Given the description of an element on the screen output the (x, y) to click on. 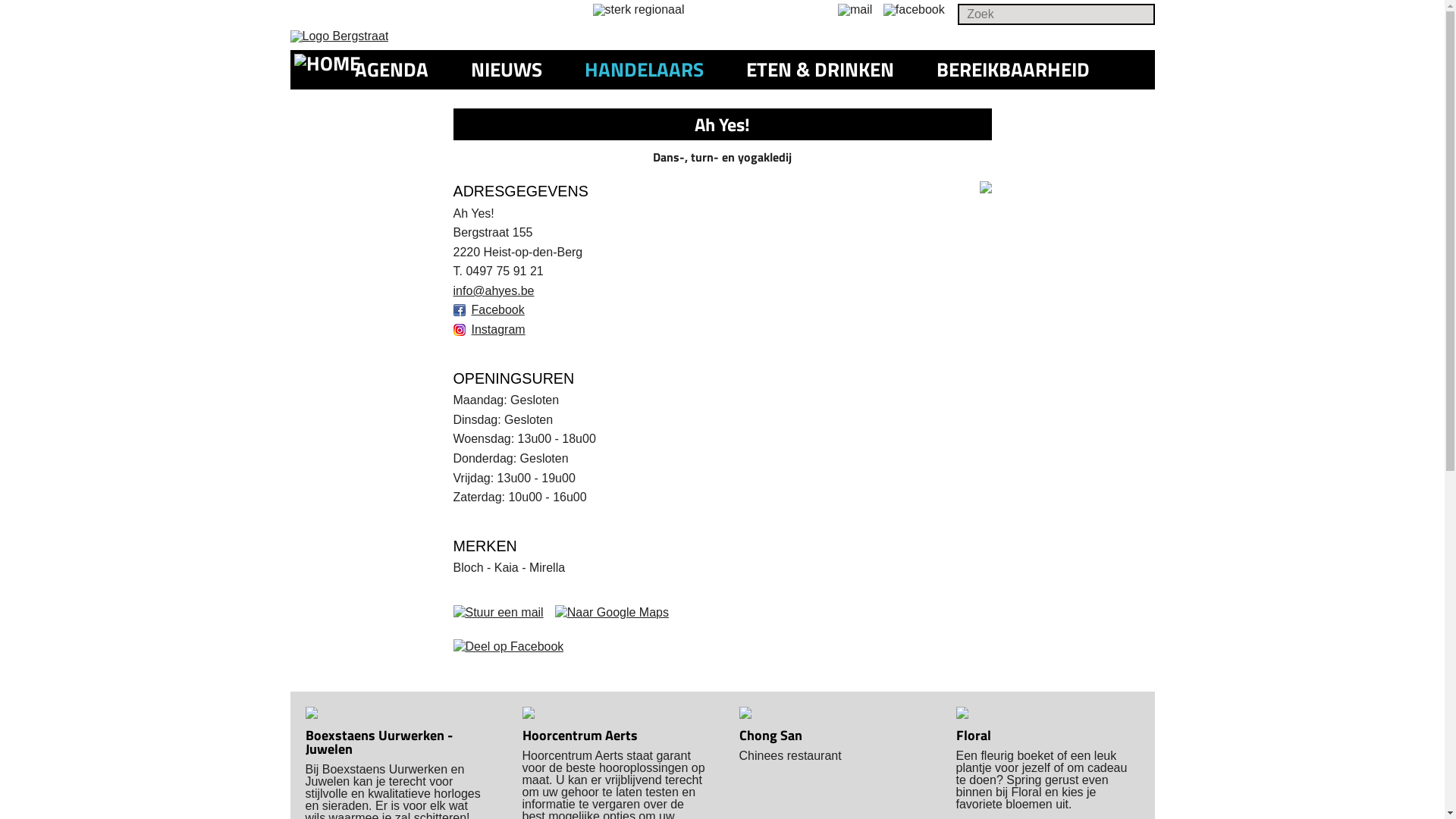
AGENDA Element type: text (391, 69)
info@ahyes.be Element type: text (493, 290)
Facebook Element type: text (488, 309)
BEREIKBAARHEID Element type: text (1012, 69)
Instagram Element type: text (489, 329)
Boexstaens Uurwerken - Juwelen Element type: text (377, 741)
Floral Element type: text (972, 734)
NIEUWS Element type: text (506, 69)
ETEN & DRINKEN Element type: text (819, 69)
Hoorcentrum Aerts Element type: text (579, 734)
Chong San Element type: text (769, 734)
HANDELAARS Element type: text (643, 69)
